Given the description of an element on the screen output the (x, y) to click on. 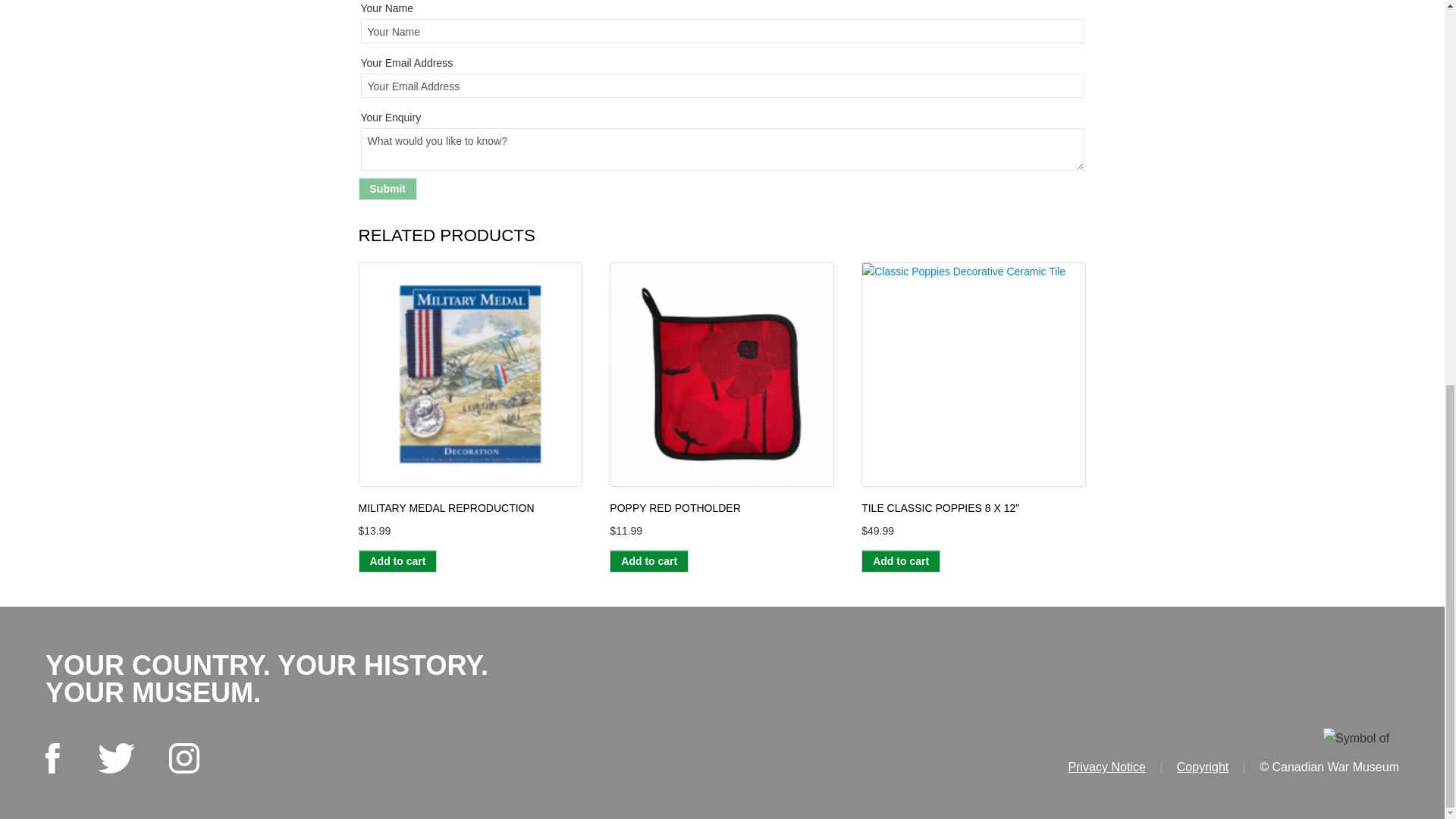
Submit (387, 188)
Instagram (183, 757)
Twitter (116, 757)
